Given the description of an element on the screen output the (x, y) to click on. 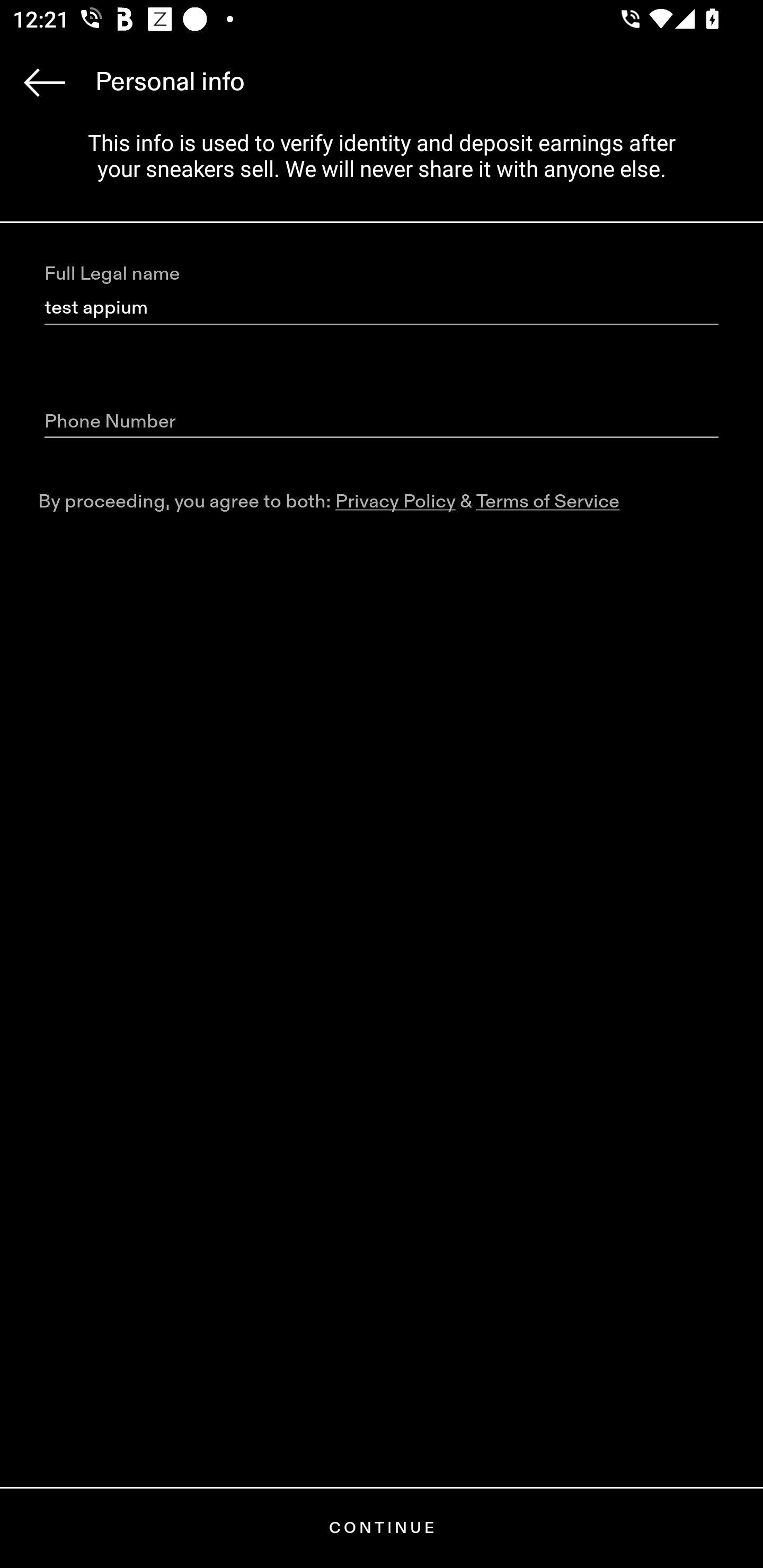
Navigate up (44, 82)
test appium (381, 308)
Phone Number (381, 422)
CONTINUE (381, 1528)
